Given the description of an element on the screen output the (x, y) to click on. 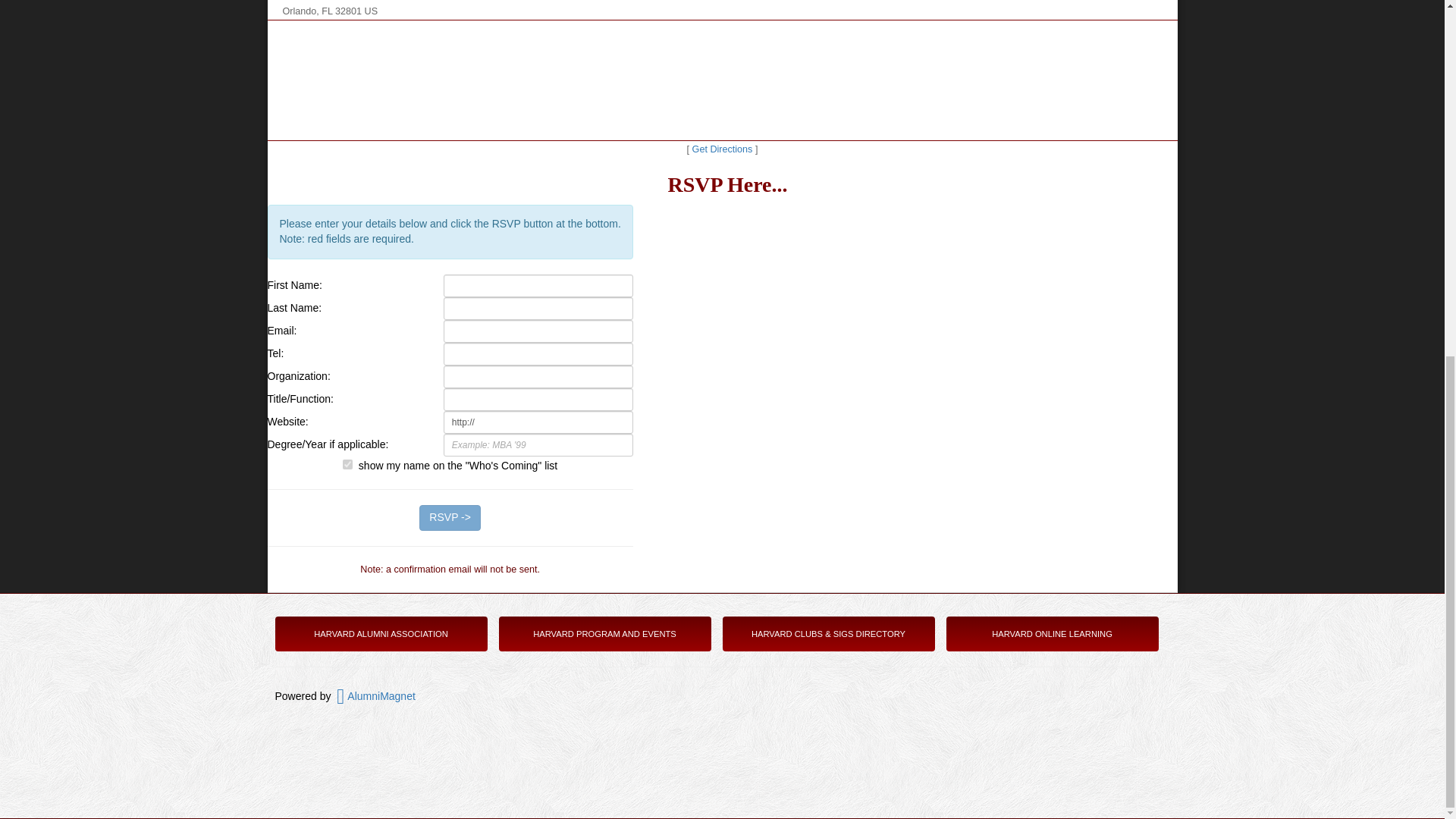
AlumniMagnet (375, 695)
HARVARD ONLINE LEARNING (1051, 633)
HARVARD ALUMNI ASSOCIATION (381, 633)
HARVARD PROGRAM AND EVENTS (604, 633)
1 (347, 464)
Get Directions (722, 149)
